Given the description of an element on the screen output the (x, y) to click on. 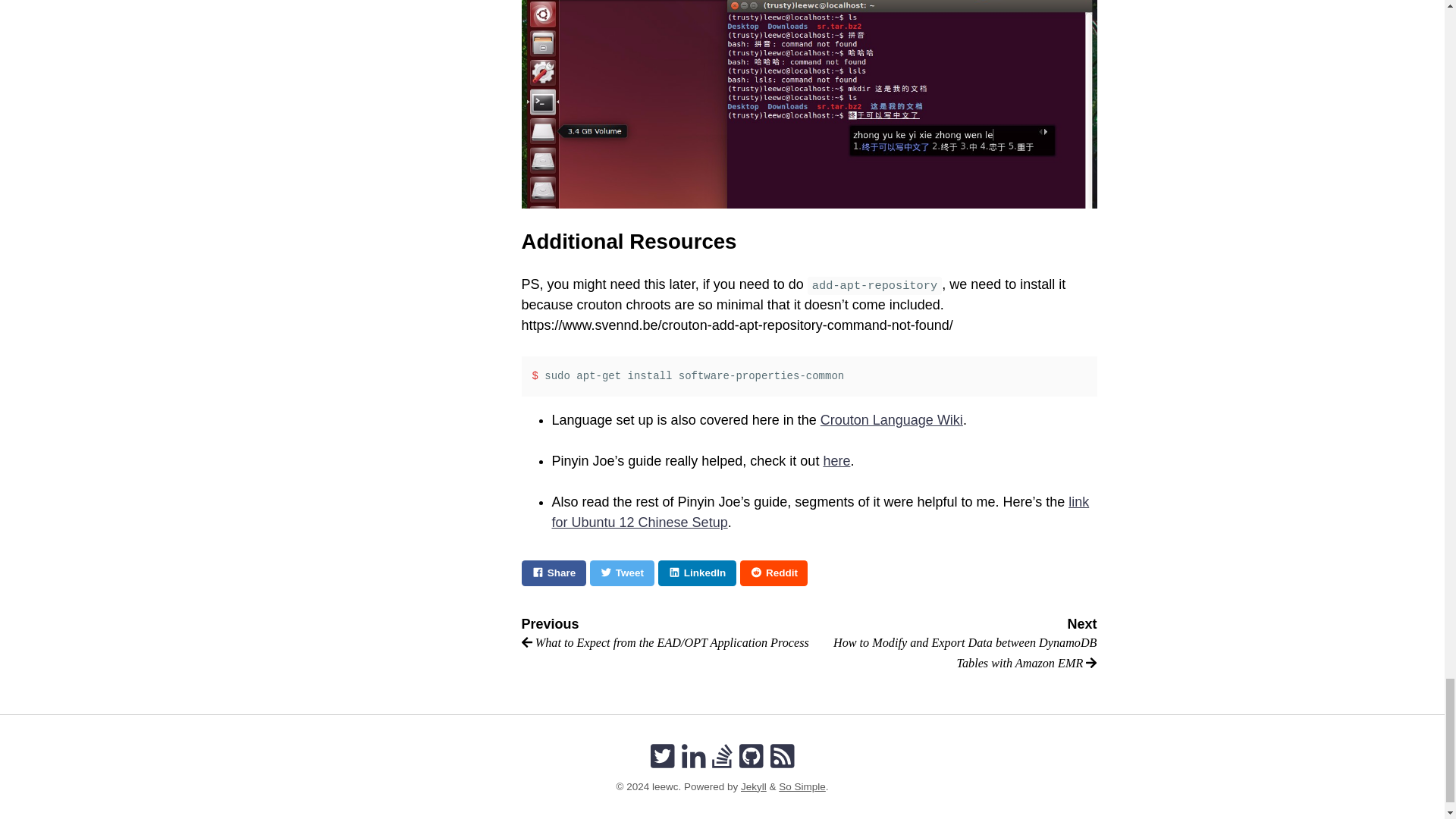
So Simple (801, 786)
LinkedIn (693, 757)
Twitter (662, 757)
LinkedIn (697, 573)
link for Ubuntu 12 Chinese Setup (820, 511)
Feed (782, 757)
here (836, 460)
Jekyll (754, 786)
Reddit (773, 573)
